Given the description of an element on the screen output the (x, y) to click on. 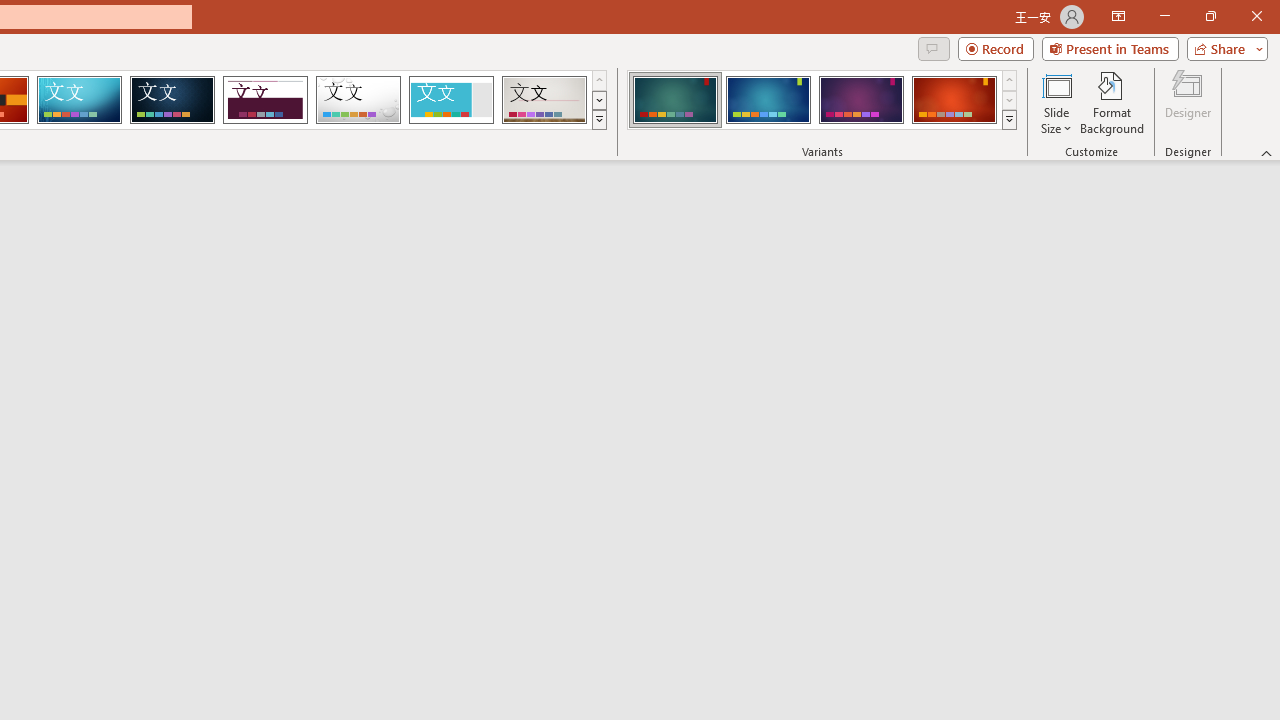
Gallery Loading Preview... (544, 100)
Ion Variant 3 (861, 100)
Droplet Loading Preview... (358, 100)
Ion Variant 4 (953, 100)
Ion Variant 2 (768, 100)
Circuit Loading Preview... (79, 100)
